Given the description of an element on the screen output the (x, y) to click on. 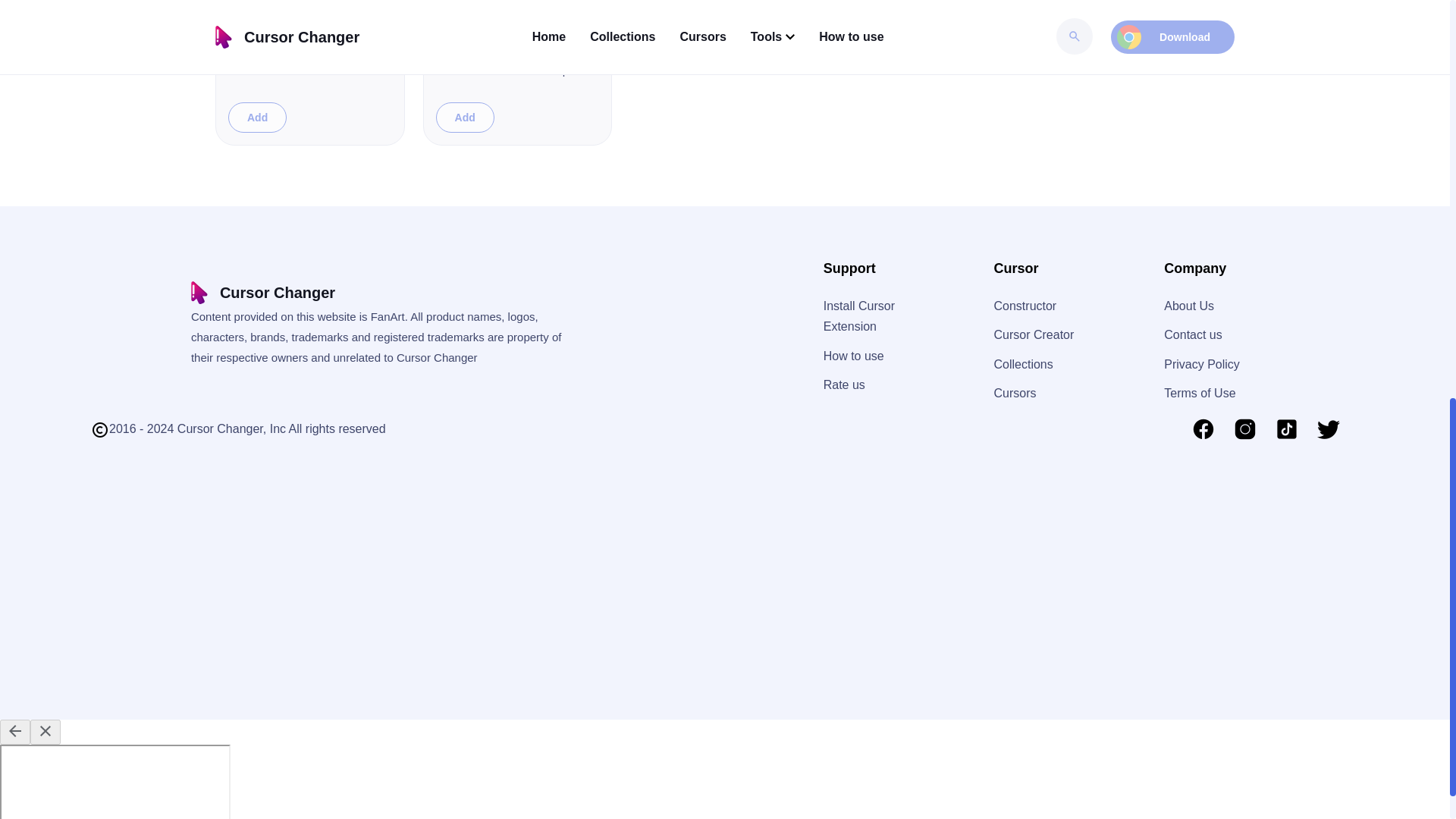
Constructor (1024, 305)
How to use (853, 355)
Contact us (1192, 334)
Cursors (1013, 392)
Collections (1022, 364)
Add (465, 117)
About Us (1188, 305)
Cursor Changer (262, 292)
Install Cursor Extension (859, 315)
Add (257, 117)
Cursor Creator (1033, 334)
Rate us (844, 384)
